Given the description of an element on the screen output the (x, y) to click on. 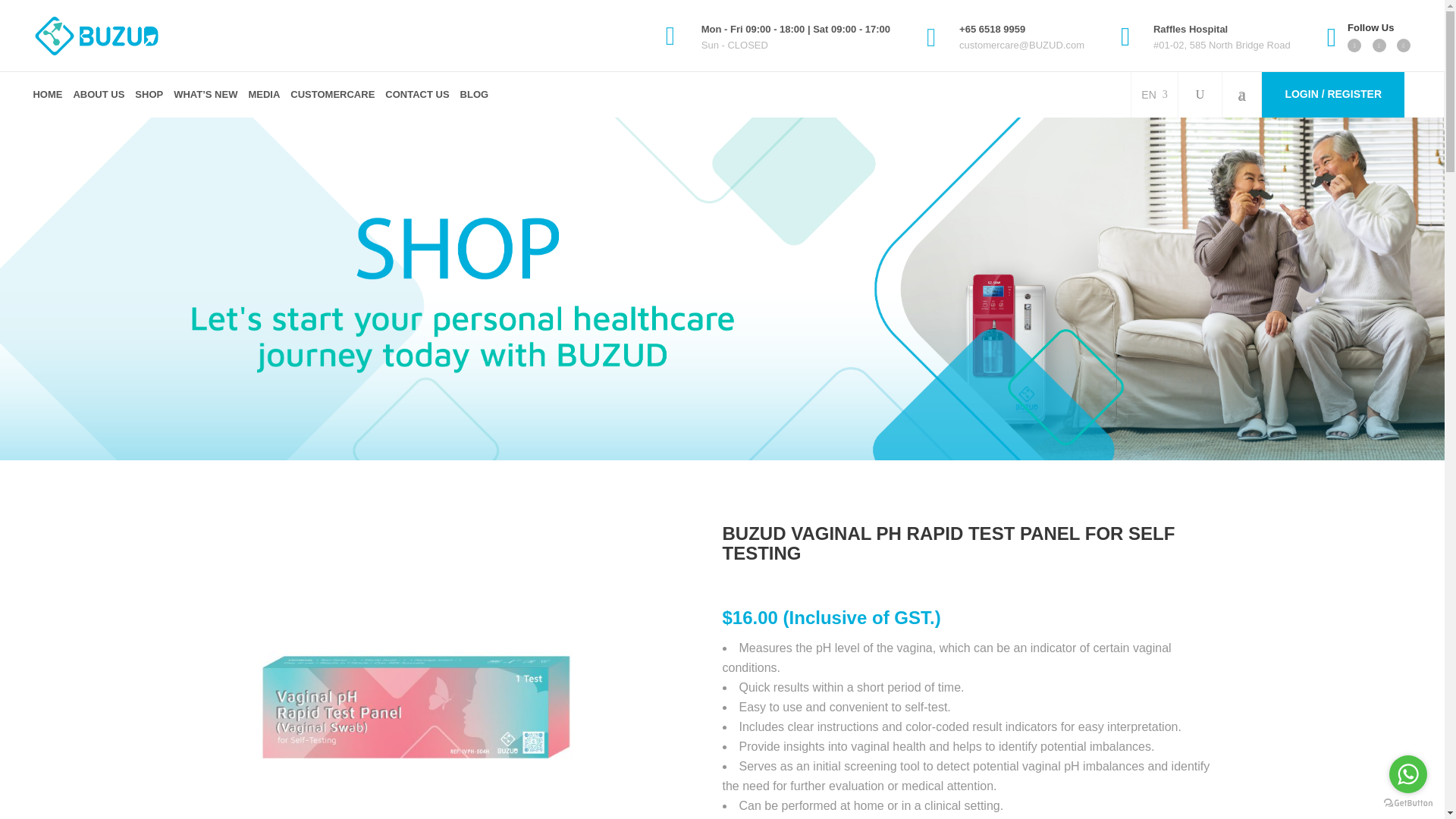
MEDIA (264, 94)
CUSTOMERCARE (332, 94)
ABOUT US (97, 94)
EN (1154, 94)
Search (1172, 142)
Vaginal pH Rapid Test Panel 3D square (411, 671)
CONTACT US (417, 94)
